Given the description of an element on the screen output the (x, y) to click on. 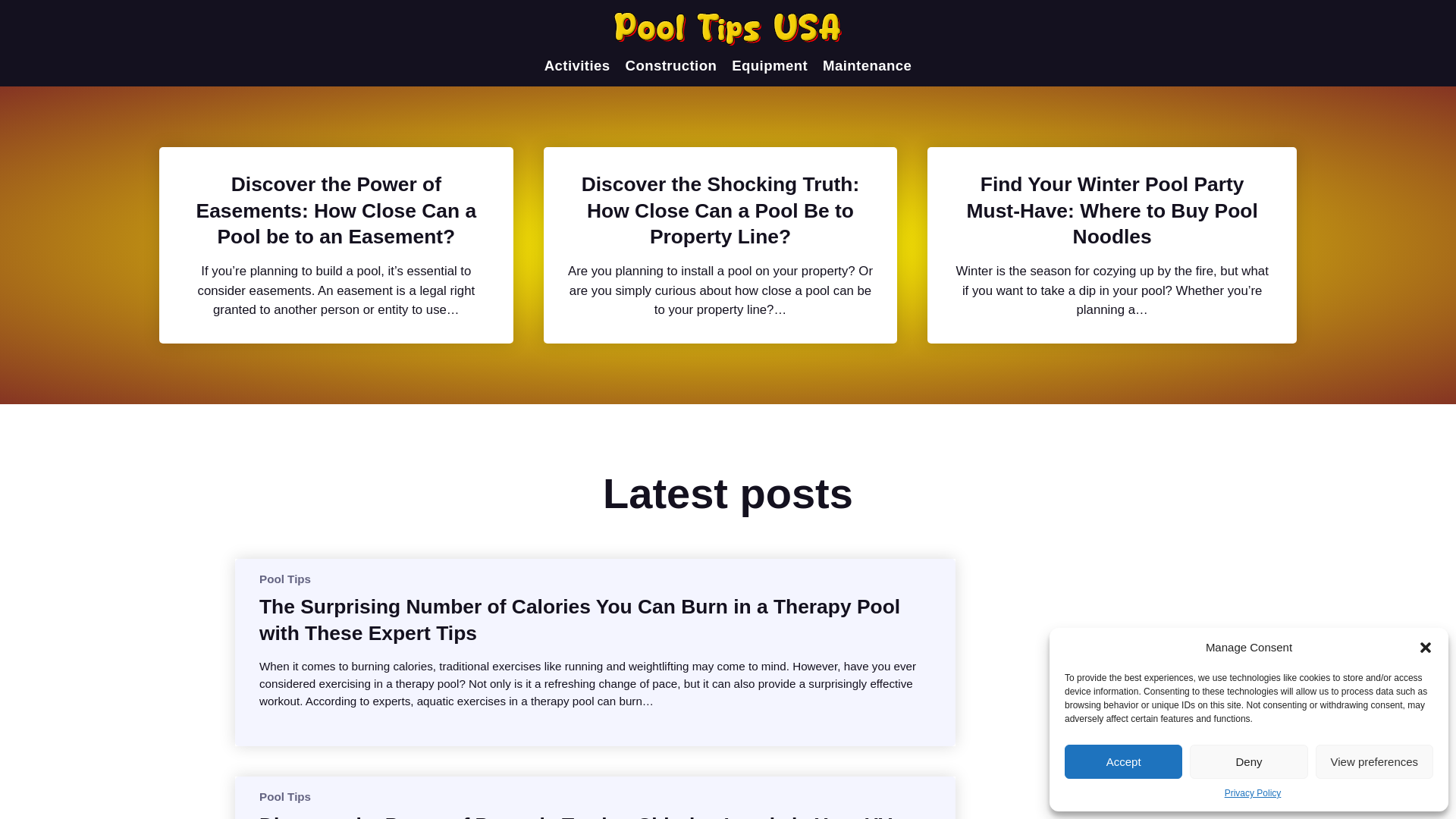
Construction (671, 65)
Maintenance (866, 65)
Pool Tips (285, 796)
Pool Tips (285, 577)
Accept (1123, 761)
Activities (577, 65)
Equipment (770, 65)
